Given the description of an element on the screen output the (x, y) to click on. 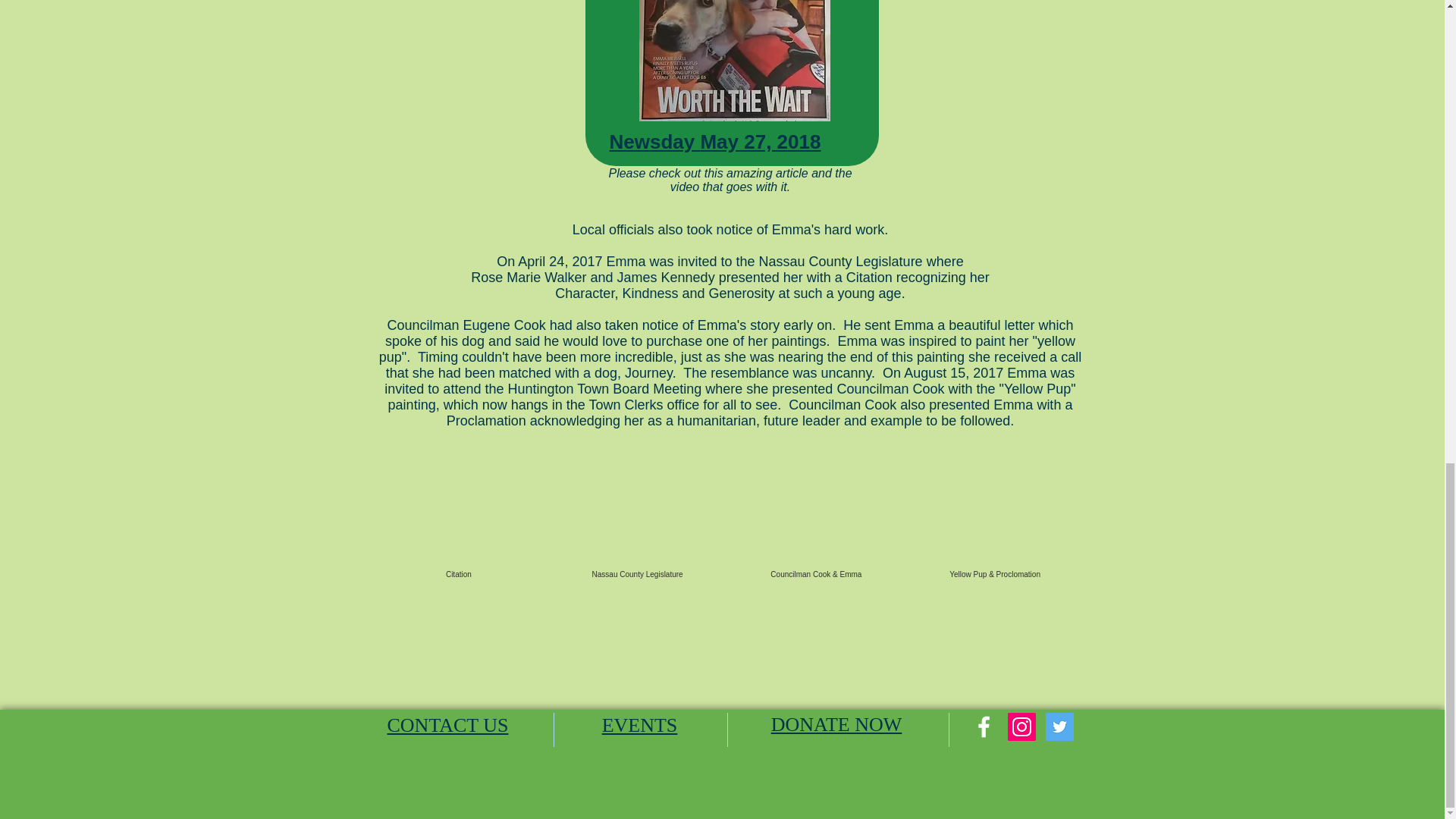
DONATE NOW (836, 723)
EVENTS (640, 725)
Newsday May 27, 2018 (715, 142)
CONTACT US (447, 725)
